Given the description of an element on the screen output the (x, y) to click on. 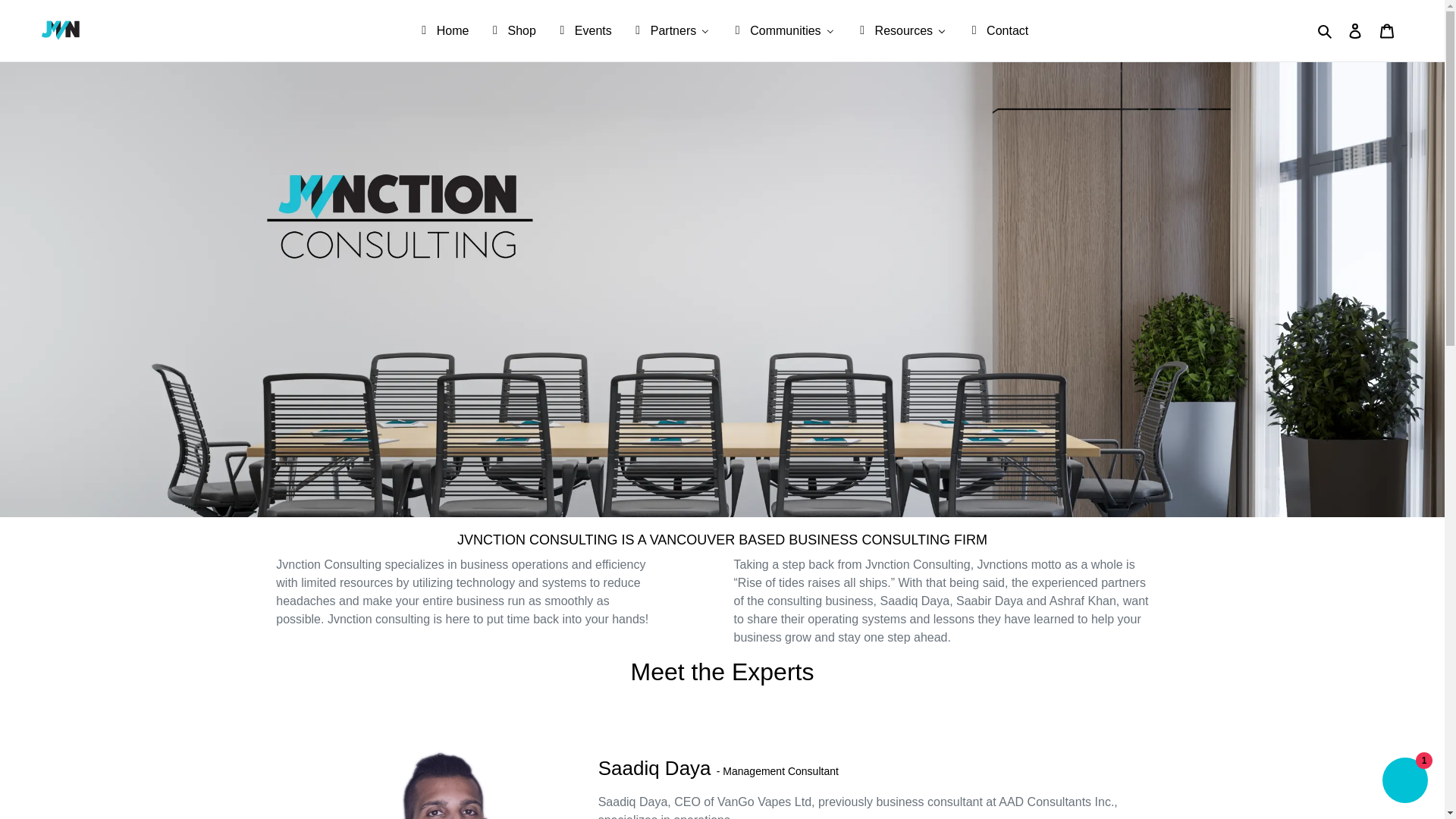
Partners (670, 30)
Shop (510, 30)
Search (1326, 30)
Events (582, 30)
Communities (782, 30)
Home (443, 30)
Cart (1387, 29)
Log in (1355, 29)
Resources (900, 30)
Shopify online store chat (1404, 781)
Contact (996, 30)
